Given the description of an element on the screen output the (x, y) to click on. 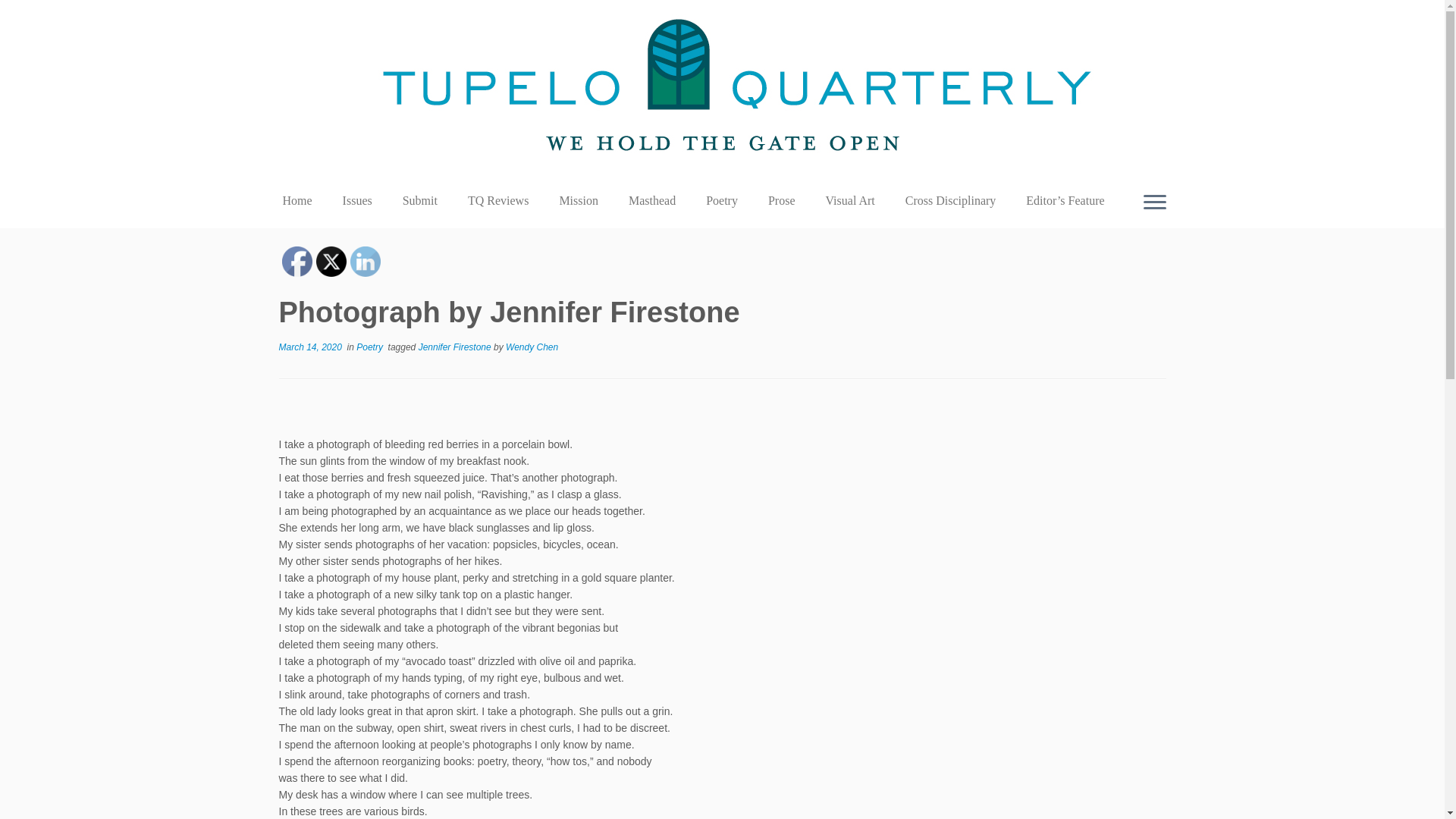
Visual Art (849, 200)
Cross Disciplinary (950, 200)
Mission (577, 200)
Poetry (721, 200)
TQ Reviews (497, 200)
Open the menu (1154, 202)
Poetry (370, 347)
Wendy Chen (531, 347)
LinkedIn (365, 261)
12:00 am (310, 347)
